Given the description of an element on the screen output the (x, y) to click on. 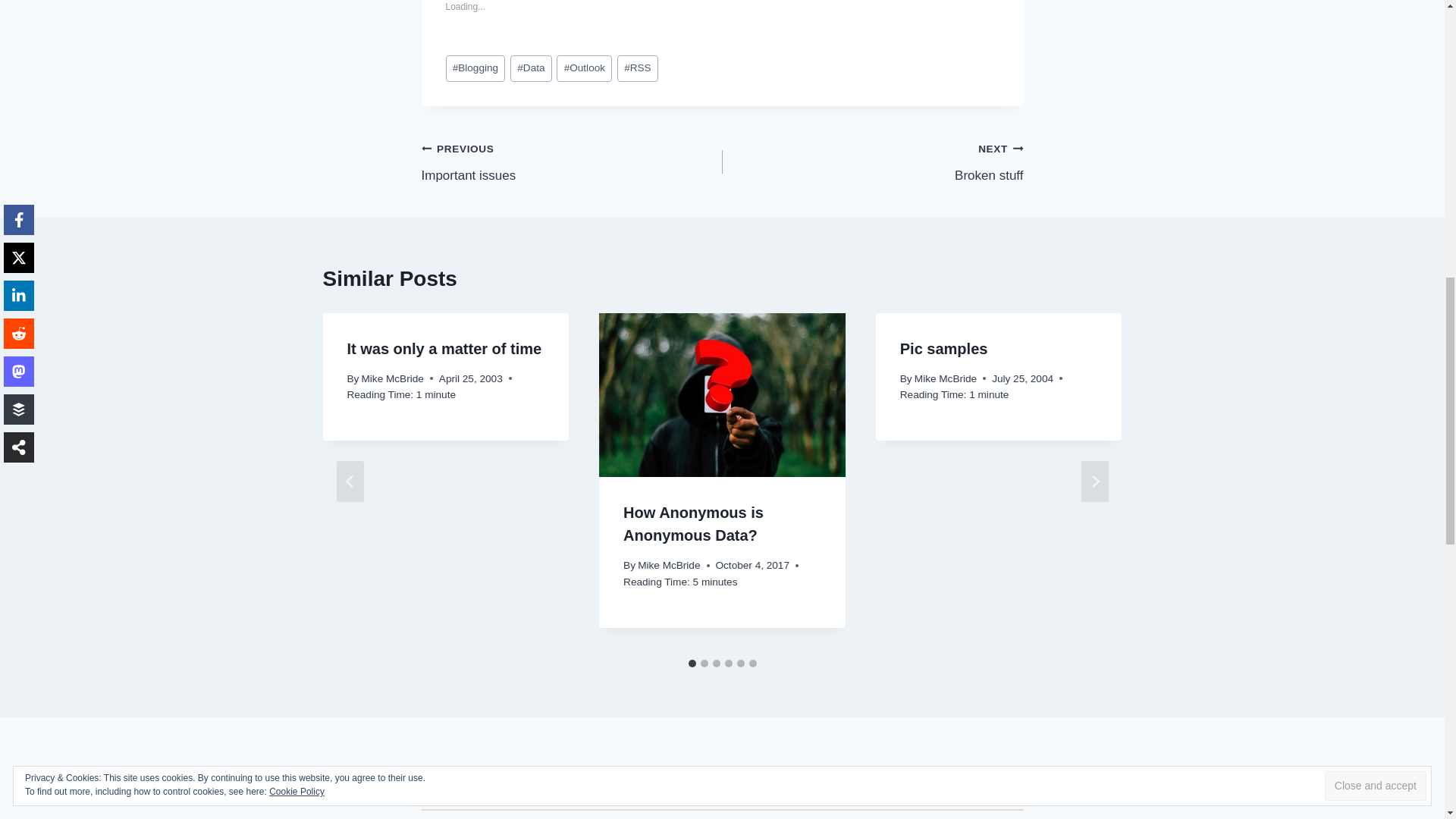
Data (531, 68)
Blogging (475, 68)
Outlook (583, 68)
Comment Form (722, 813)
RSS (637, 68)
